Given the description of an element on the screen output the (x, y) to click on. 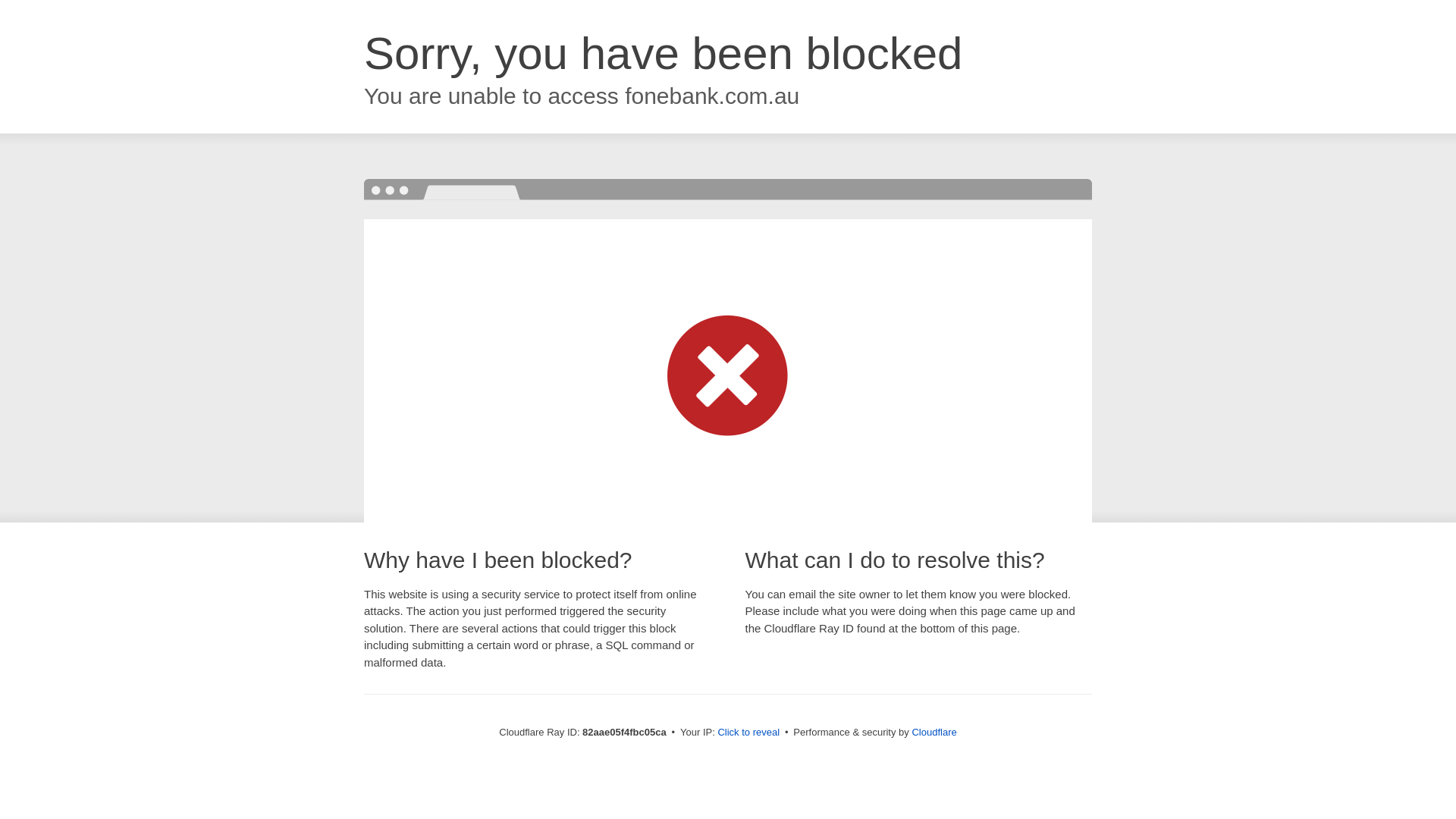
Click to reveal Element type: text (748, 732)
Cloudflare Element type: text (933, 731)
